Given the description of an element on the screen output the (x, y) to click on. 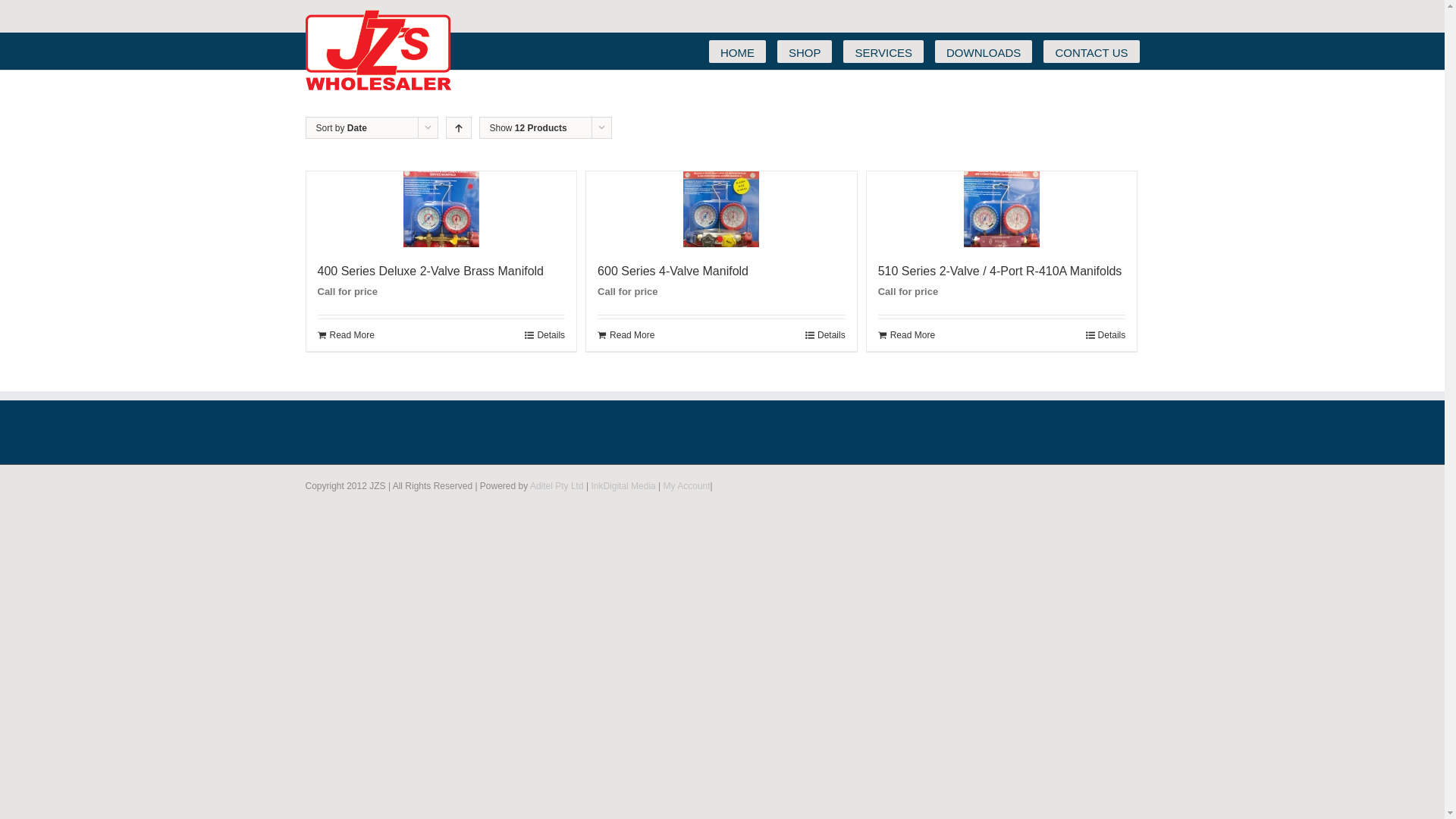
Details Element type: text (825, 335)
InkDigital Media Element type: text (622, 485)
SERVICES Element type: text (883, 51)
Details Element type: text (1105, 335)
My Account Element type: text (686, 485)
CONTACT US Element type: text (1091, 51)
Aditel Pty Ltd Element type: text (556, 485)
600 Series 4-Valve Manifold Element type: text (672, 270)
DOWNLOADS Element type: text (983, 51)
Read More Element type: text (344, 335)
Details Element type: text (544, 335)
SHOP Element type: text (804, 51)
400 Series Deluxe 2-Valve Brass Manifold Element type: text (429, 270)
Show 12 Products Element type: text (528, 127)
Sort by Date Element type: text (340, 127)
HOME Element type: text (737, 51)
510 Series 2-Valve / 4-Port R-410A Manifolds Element type: text (1000, 270)
Read More Element type: text (625, 335)
Read More Element type: text (906, 335)
